Given the description of an element on the screen output the (x, y) to click on. 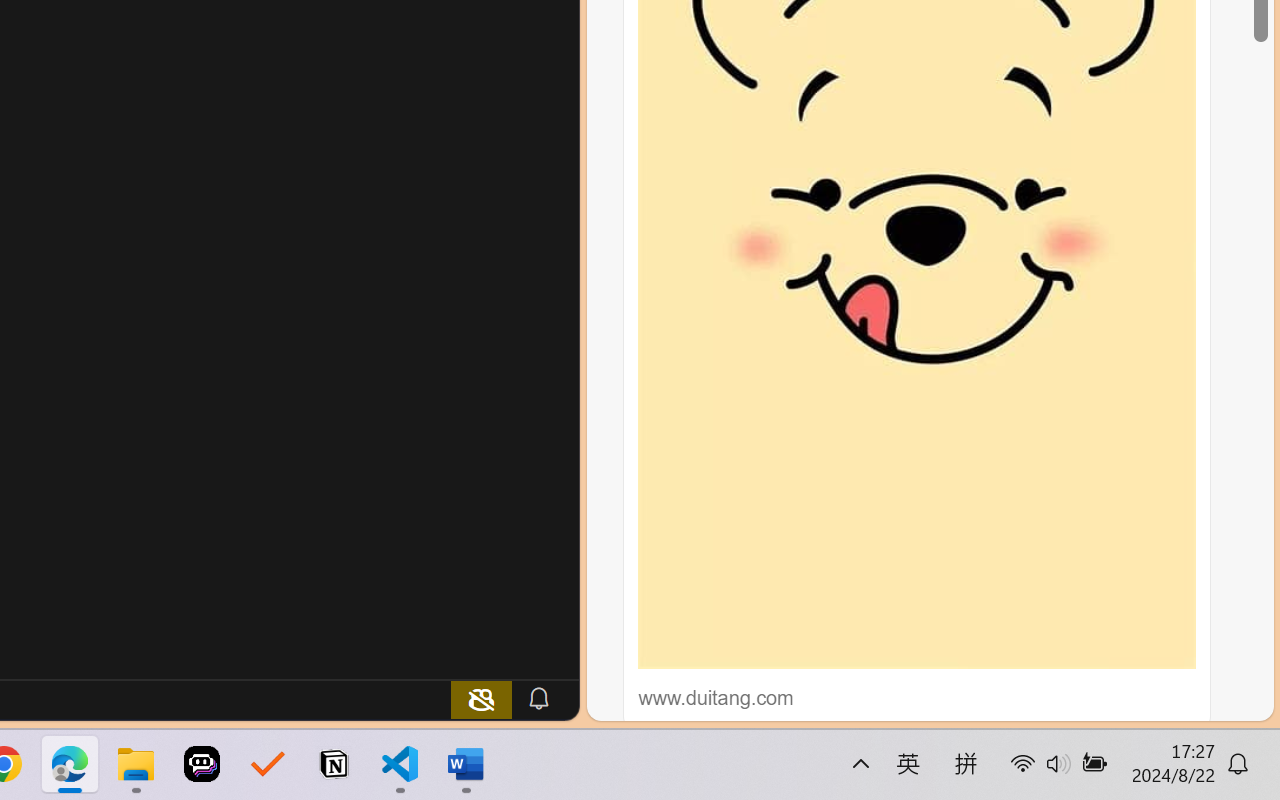
Notifications (537, 698)
copilot-notconnected, Copilot error (click for details) (481, 698)
